Given the description of an element on the screen output the (x, y) to click on. 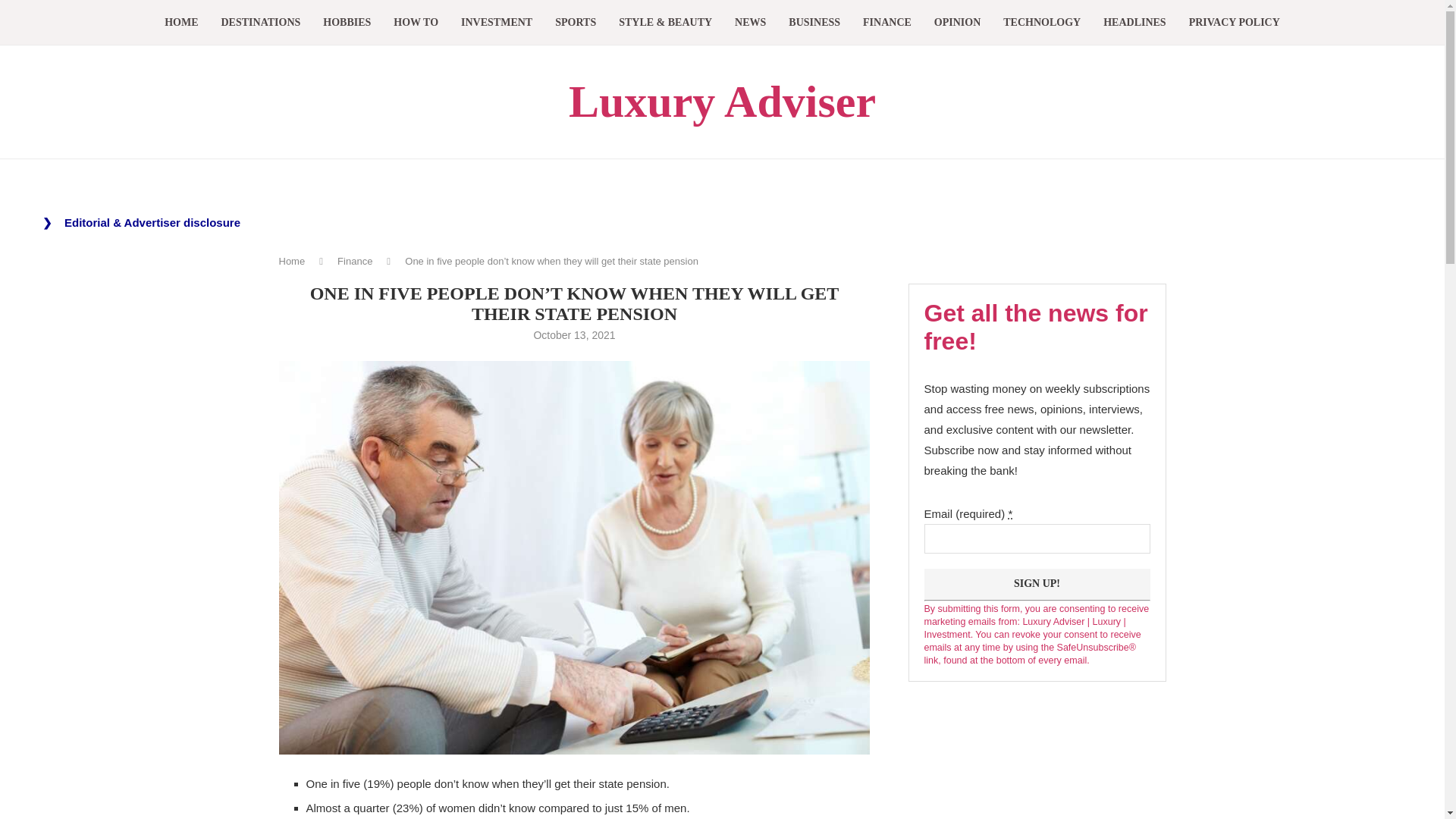
HEADLINES (1134, 22)
TECHNOLOGY (1041, 22)
Sign up! (1036, 583)
HOBBIES (347, 22)
PRIVACY POLICY (1234, 22)
Home (292, 260)
BUSINESS (814, 22)
OPINION (956, 22)
FINANCE (887, 22)
Luxury Adviser (722, 101)
